Given the description of an element on the screen output the (x, y) to click on. 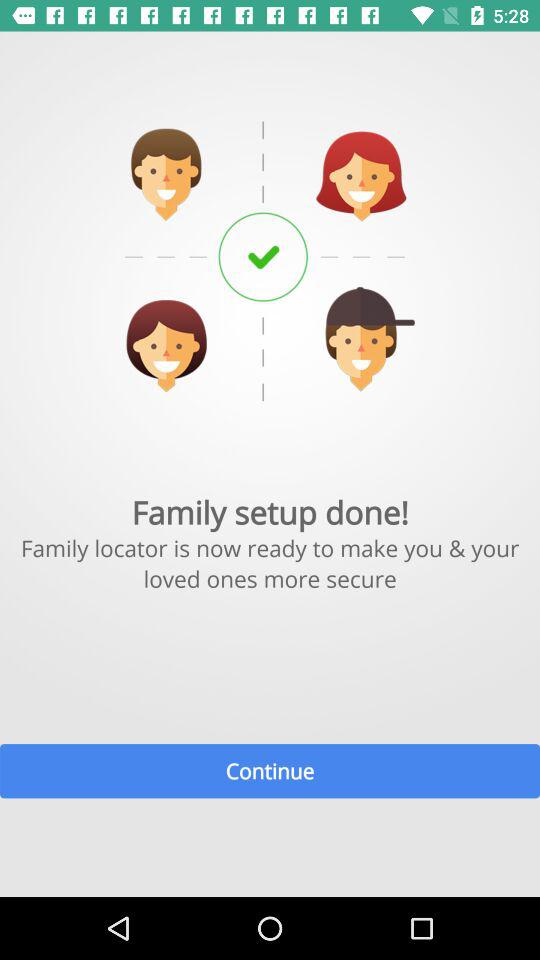
turn off the icon below the family locator is icon (270, 770)
